Given the description of an element on the screen output the (x, y) to click on. 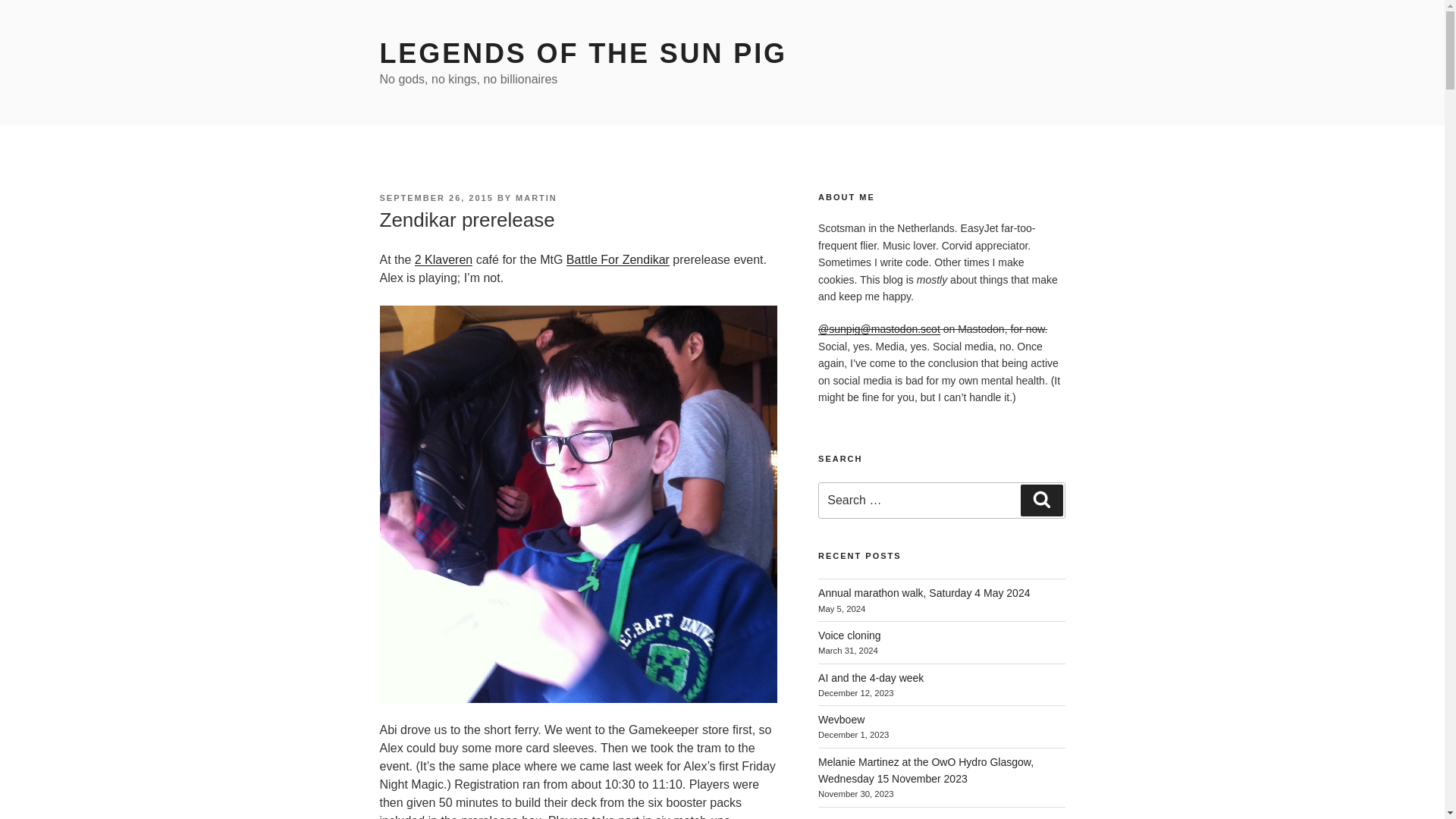
LEGENDS OF THE SUN PIG (582, 52)
Annual marathon walk, Saturday 4 May 2024 (923, 592)
Voice cloning (849, 635)
AI and the 4-day week (870, 677)
Wevboew (841, 719)
SEPTEMBER 26, 2015 (435, 197)
2 Klaveren (443, 259)
Battle For Zendikar (617, 259)
Search (1041, 500)
